Given the description of an element on the screen output the (x, y) to click on. 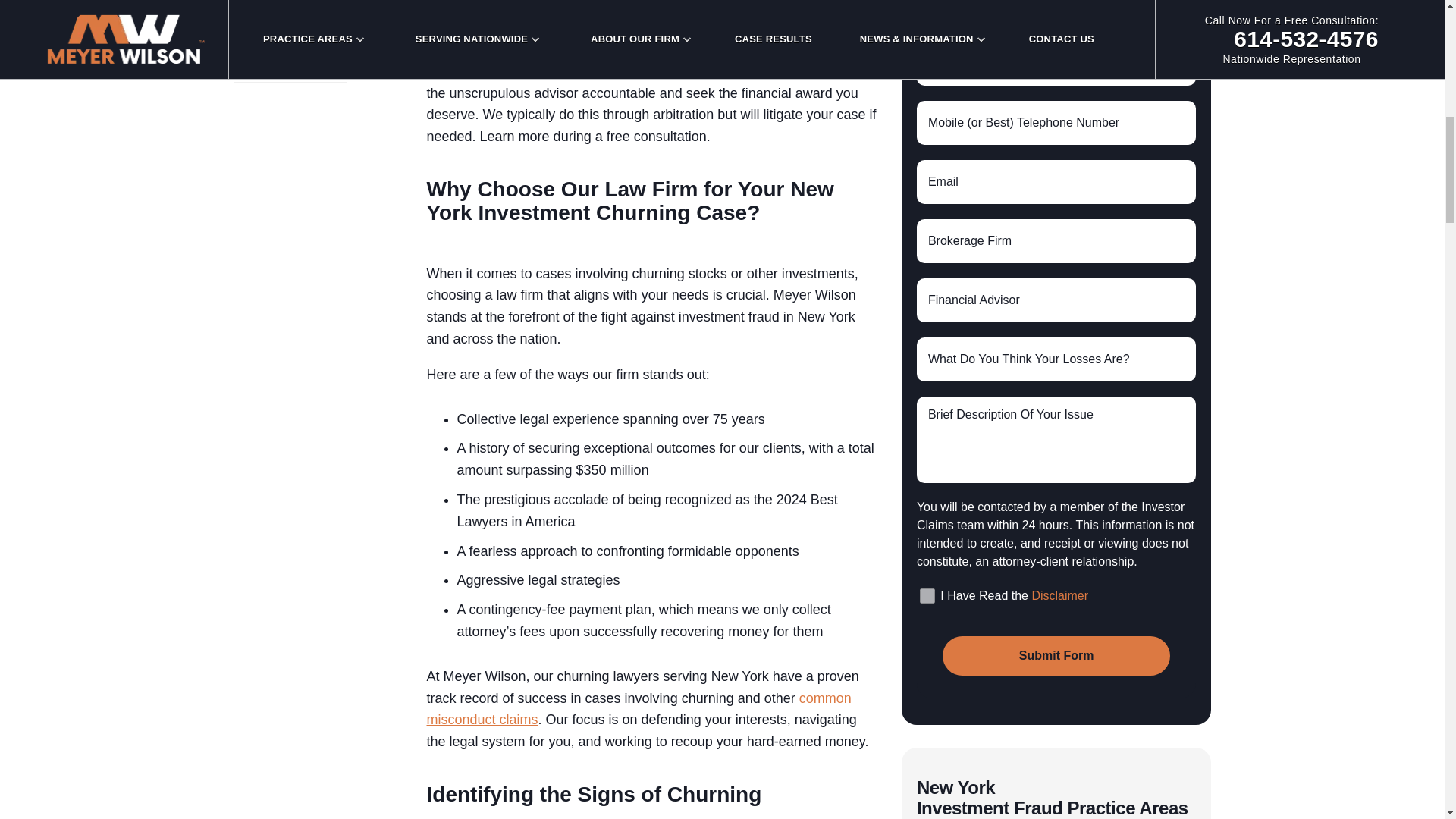
Submit Form (1056, 655)
What Exactly Is Arbitration? (319, 13)
1 (927, 595)
